Given the description of an element on the screen output the (x, y) to click on. 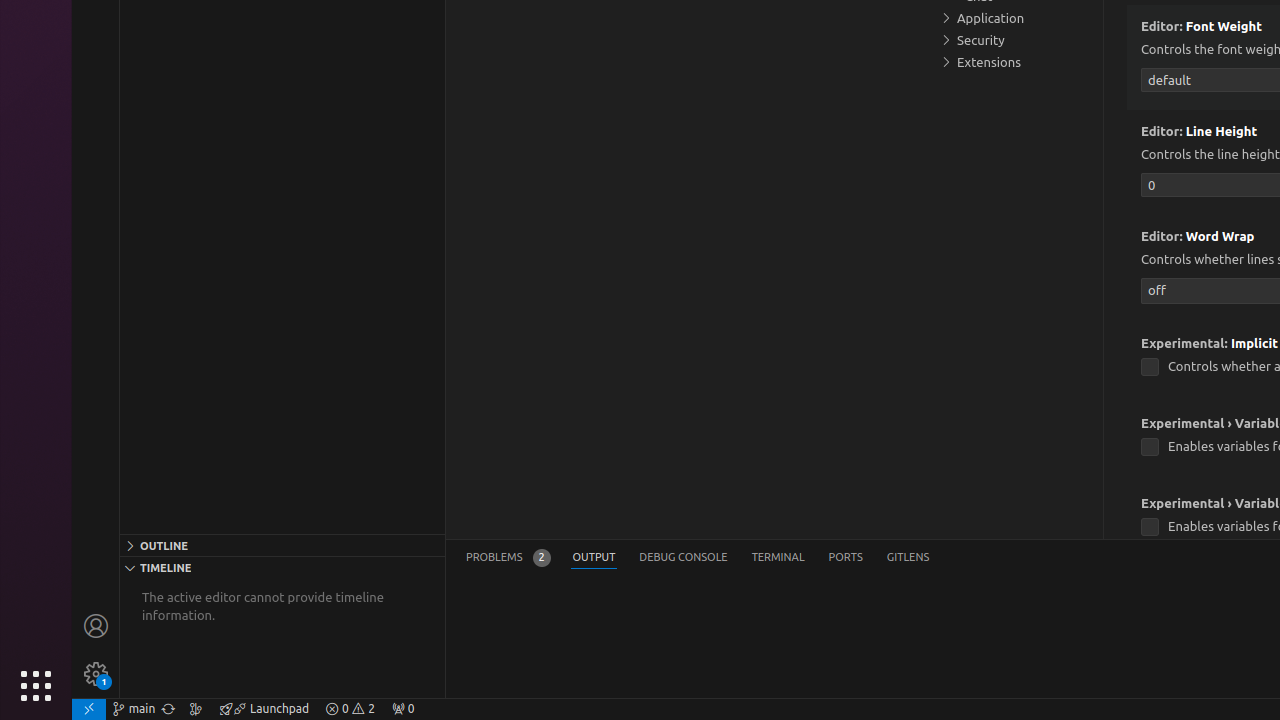
rocket gitlens-unplug Launchpad, GitLens Launchpad ᴘʀᴇᴠɪᴇᴡ    &mdash;    [$(question)](command:gitlens.launchpad.indicator.action?%22info%22 "What is this?") [$(gear)](command:workbench.action.openSettings?%22gitlens.launchpad%22 "Settings")  |  [$(circle-slash) Hide](command:gitlens.launchpad.indicator.action?%22hide%22 "Hide") --- [Launchpad](command:gitlens.launchpad.indicator.action?%info%22 "Learn about Launchpad") organizes your pull requests into actionable groups to help you focus and keep your team unblocked. It's always accessible using the `GitLens: Open Launchpad` command from the Command Palette. --- [Connect an integration](command:gitlens.showLaunchpad?%7B%22source%22%3A%22launchpad-indicator%22%7D "Connect an integration") to get started. Element type: push-button (264, 709)
chat.experimental.implicitContext Element type: check-box (1150, 367)
Security, group Element type: tree-item (1015, 40)
Debug Console (Ctrl+Shift+Y) Element type: page-tab (683, 557)
Problems (Ctrl+Shift+M) - Total 2 Problems Element type: page-tab (507, 557)
